Given the description of an element on the screen output the (x, y) to click on. 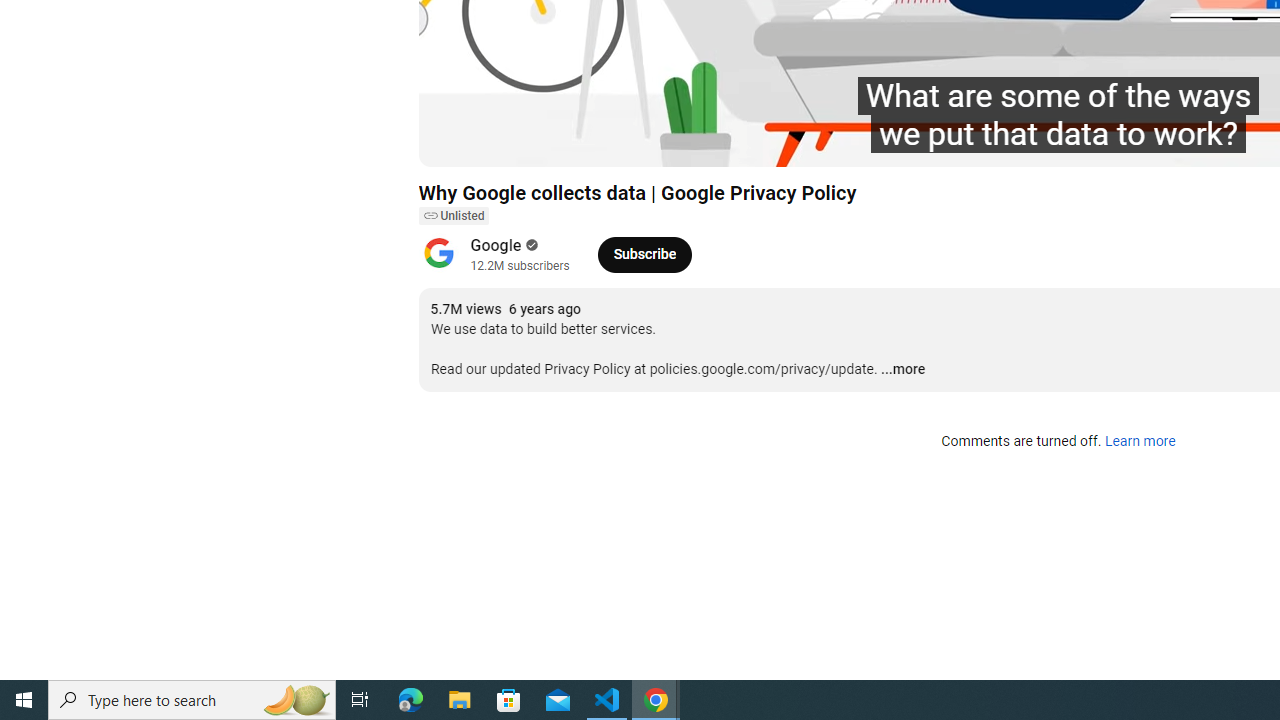
Verified (530, 245)
Learn more (1139, 442)
...more (902, 370)
Pause (k) (453, 142)
Unlisted (453, 216)
Next (SHIFT+n) (500, 142)
Mute (m) (548, 142)
Subscribe to Google. (644, 254)
